Given the description of an element on the screen output the (x, y) to click on. 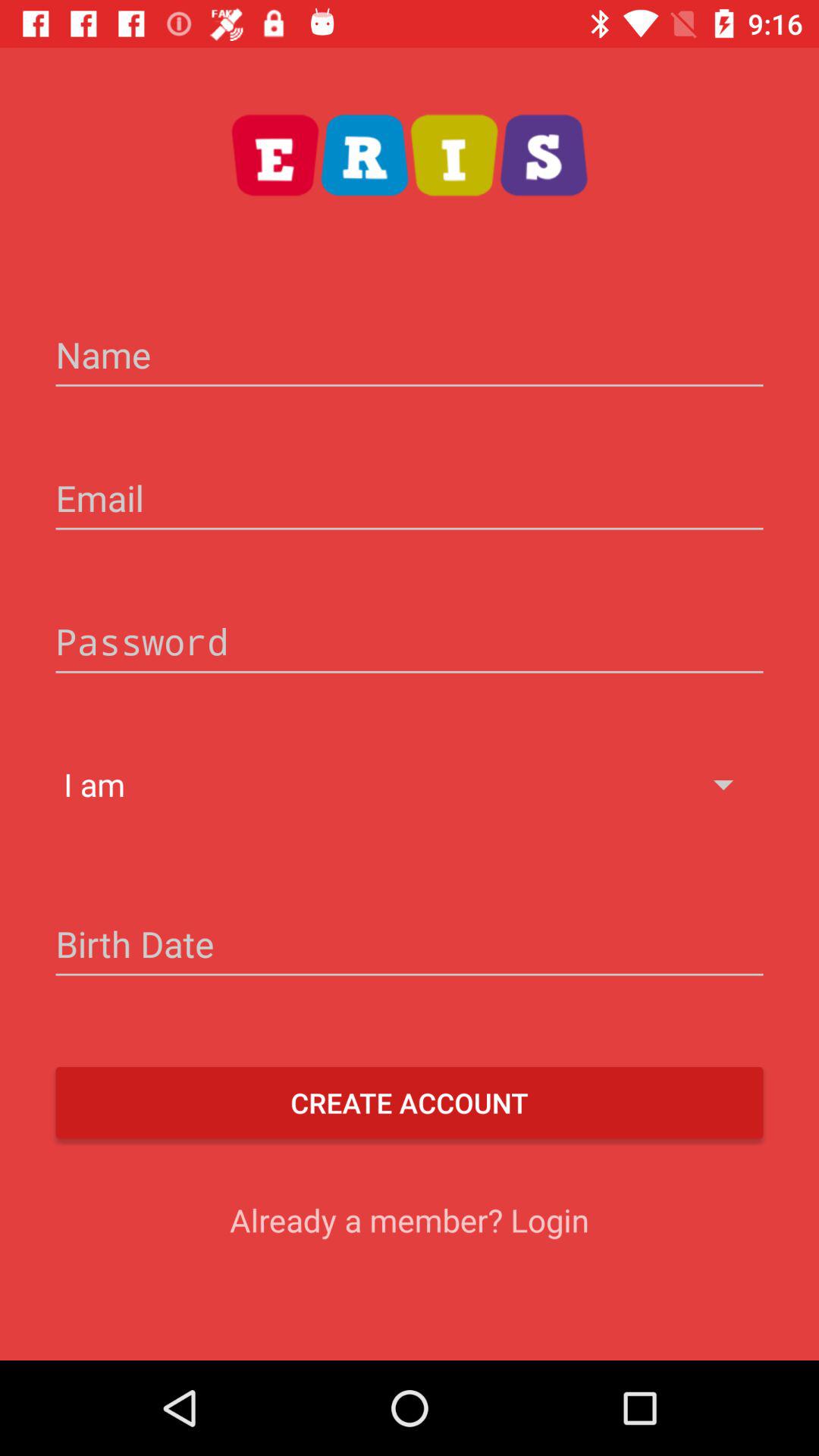
click icon above the already a member (409, 1102)
